Given the description of an element on the screen output the (x, y) to click on. 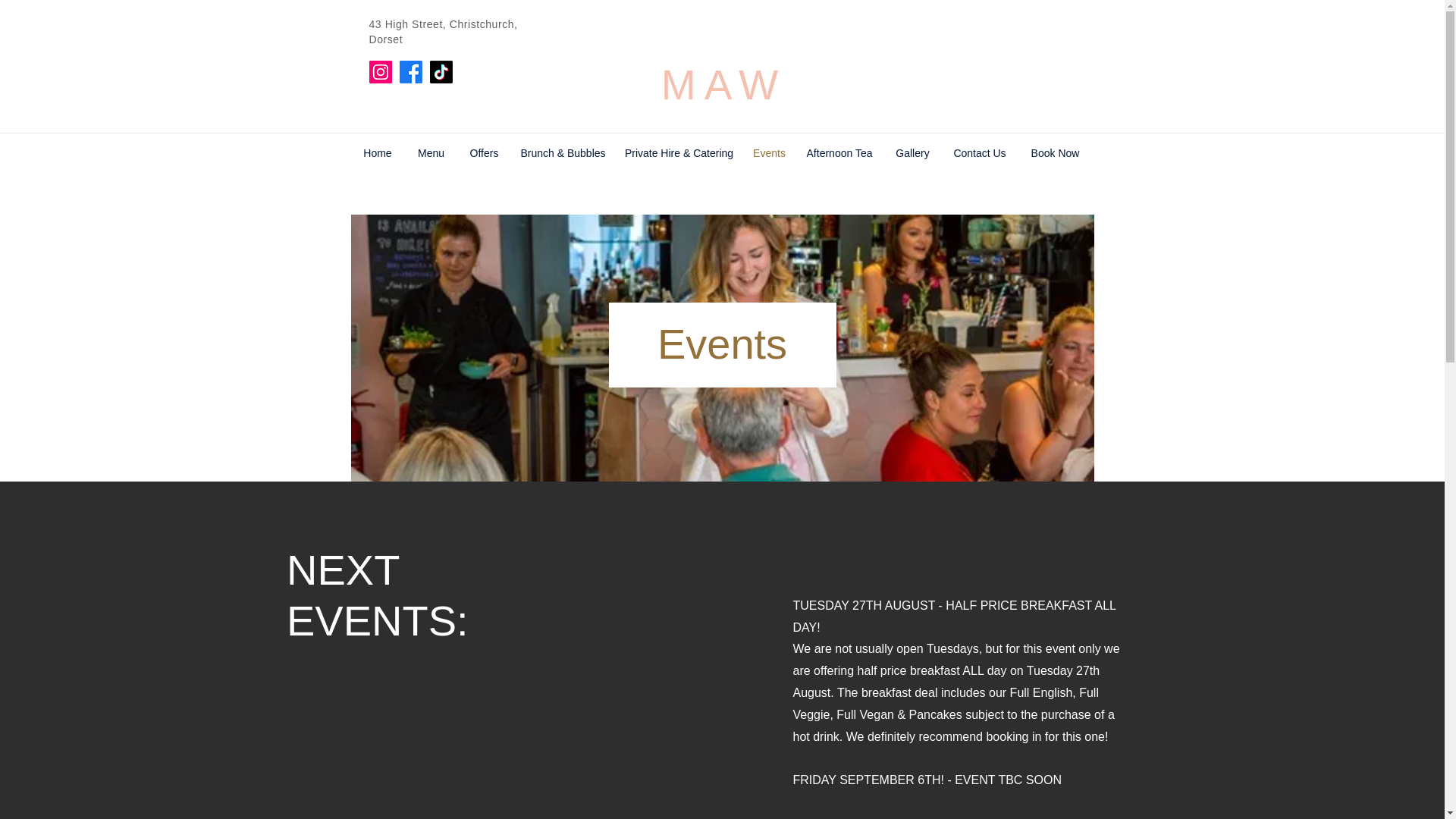
Home (377, 153)
Contact Us (979, 153)
Events (769, 153)
MAW (723, 84)
Book Now (1055, 153)
Afternoon Tea (839, 153)
Menu (431, 153)
Offers (484, 153)
Gallery (912, 153)
